Given the description of an element on the screen output the (x, y) to click on. 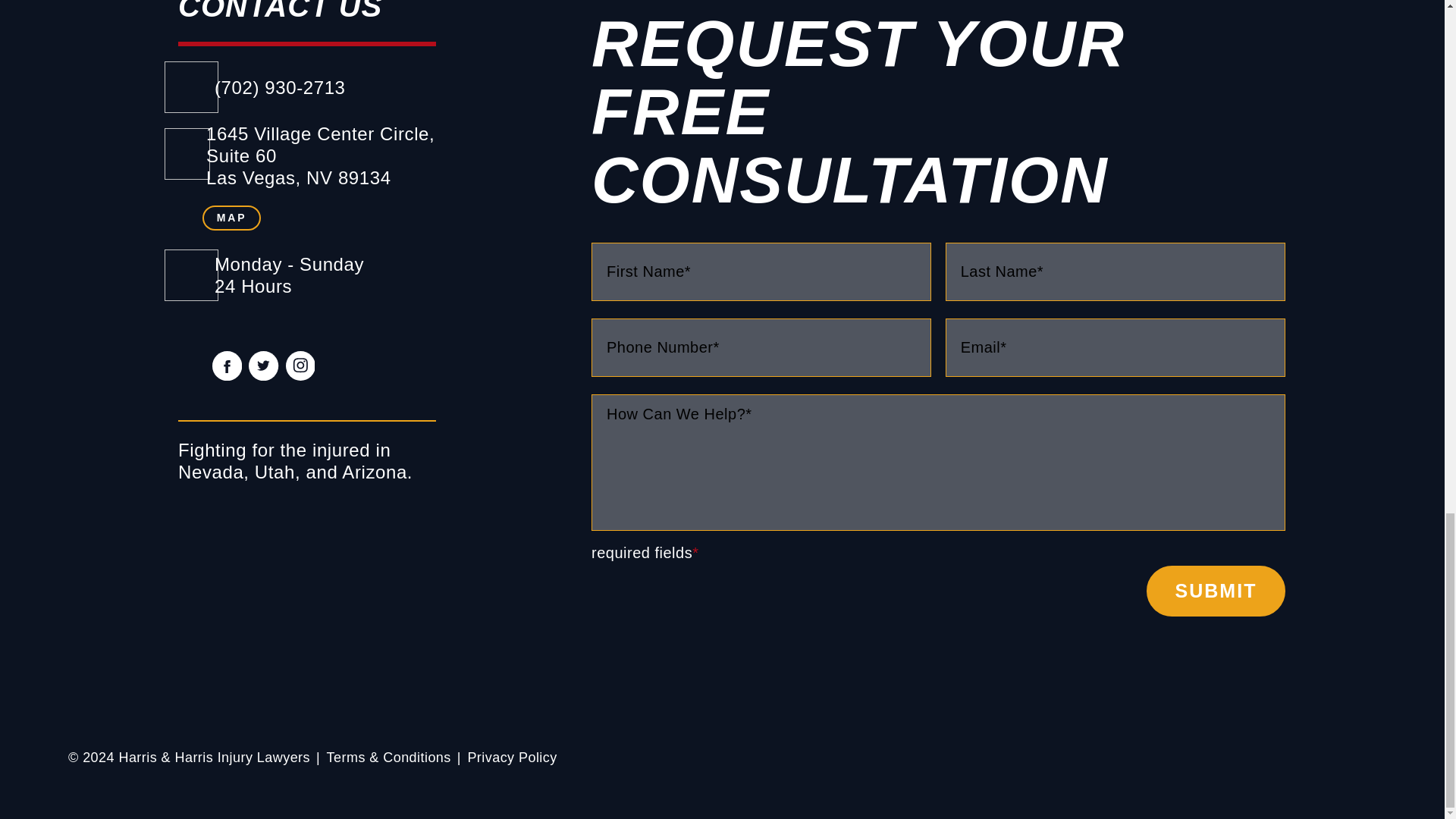
Submit (1216, 590)
